Given the description of an element on the screen output the (x, y) to click on. 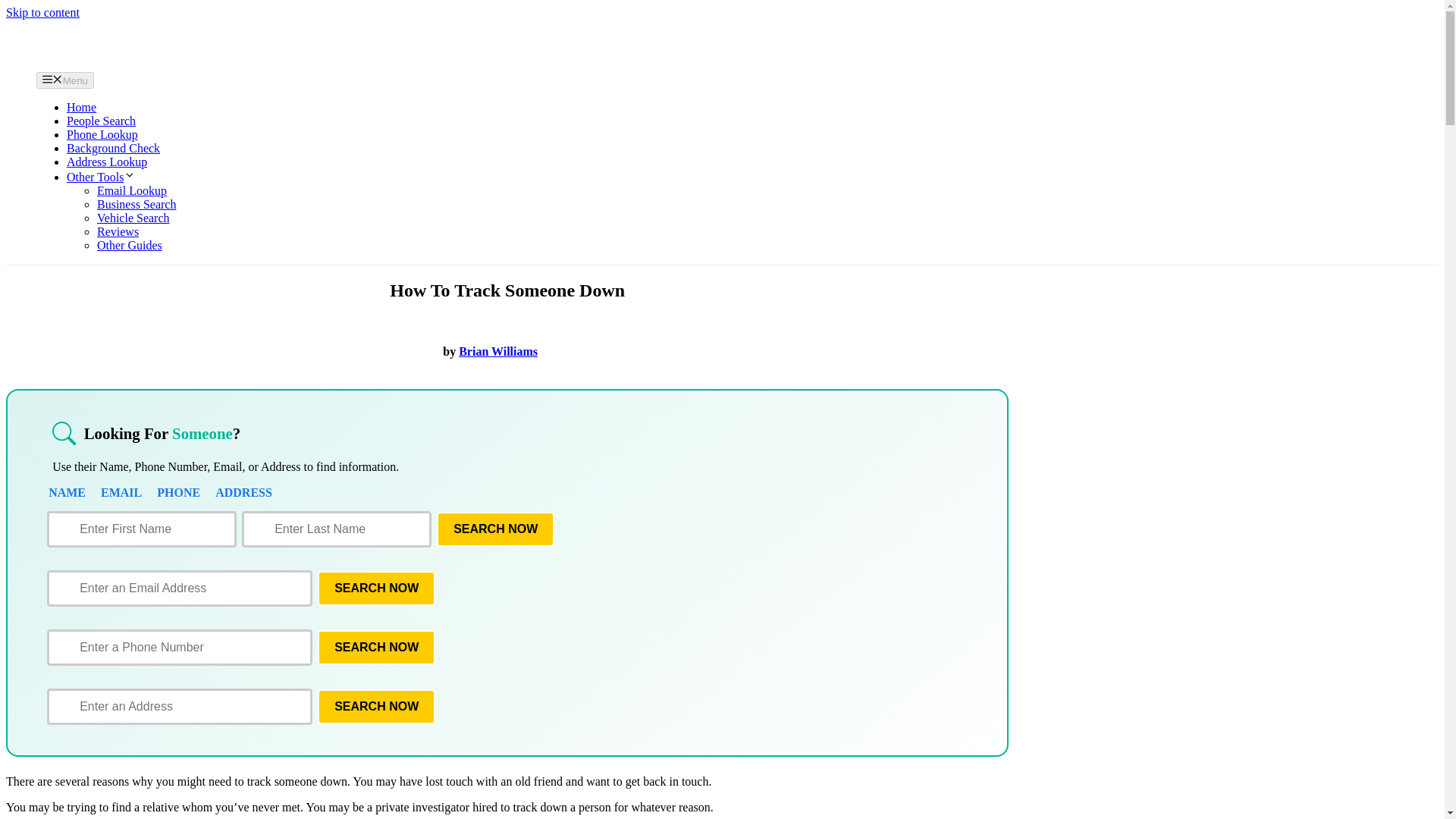
Brian Williams (497, 350)
SEARCH NOW (376, 647)
Phone Lookup (102, 133)
Skip to content (42, 11)
Email Lookup (132, 190)
Menu (65, 80)
Other Guides (129, 245)
SEARCH NOW (376, 588)
SEARCH NOW (376, 706)
Business Search (136, 204)
